Given the description of an element on the screen output the (x, y) to click on. 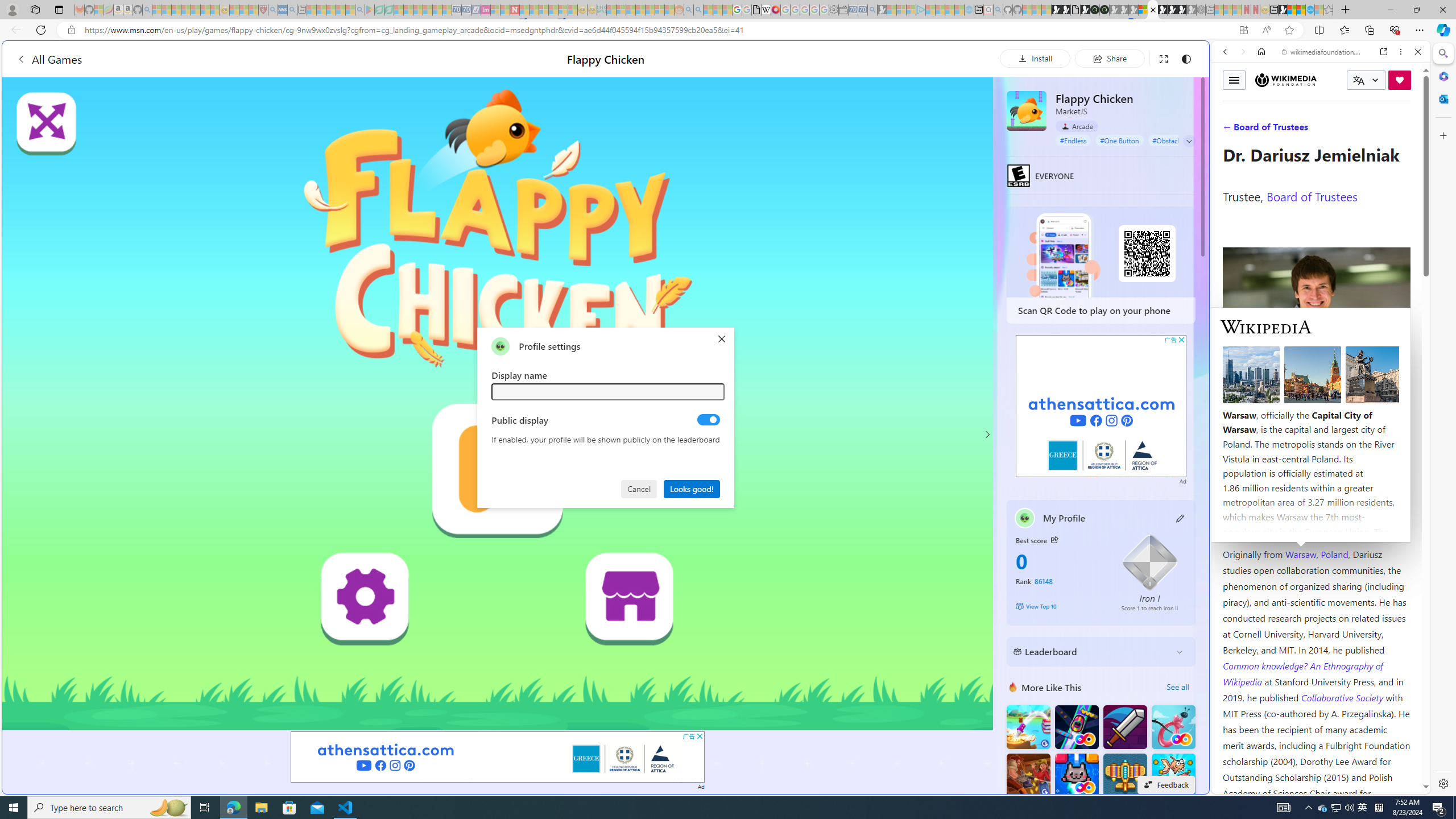
Collaborative Society  (1343, 697)
Class: i icon icon-translate language-switcher__icon (1358, 80)
Expert Portfolios - Sleeping (639, 9)
Latest Politics News & Archive | Newsweek.com - Sleeping (514, 9)
Poland (1334, 554)
Sign in to your account (1143, 9)
